Given the description of an element on the screen output the (x, y) to click on. 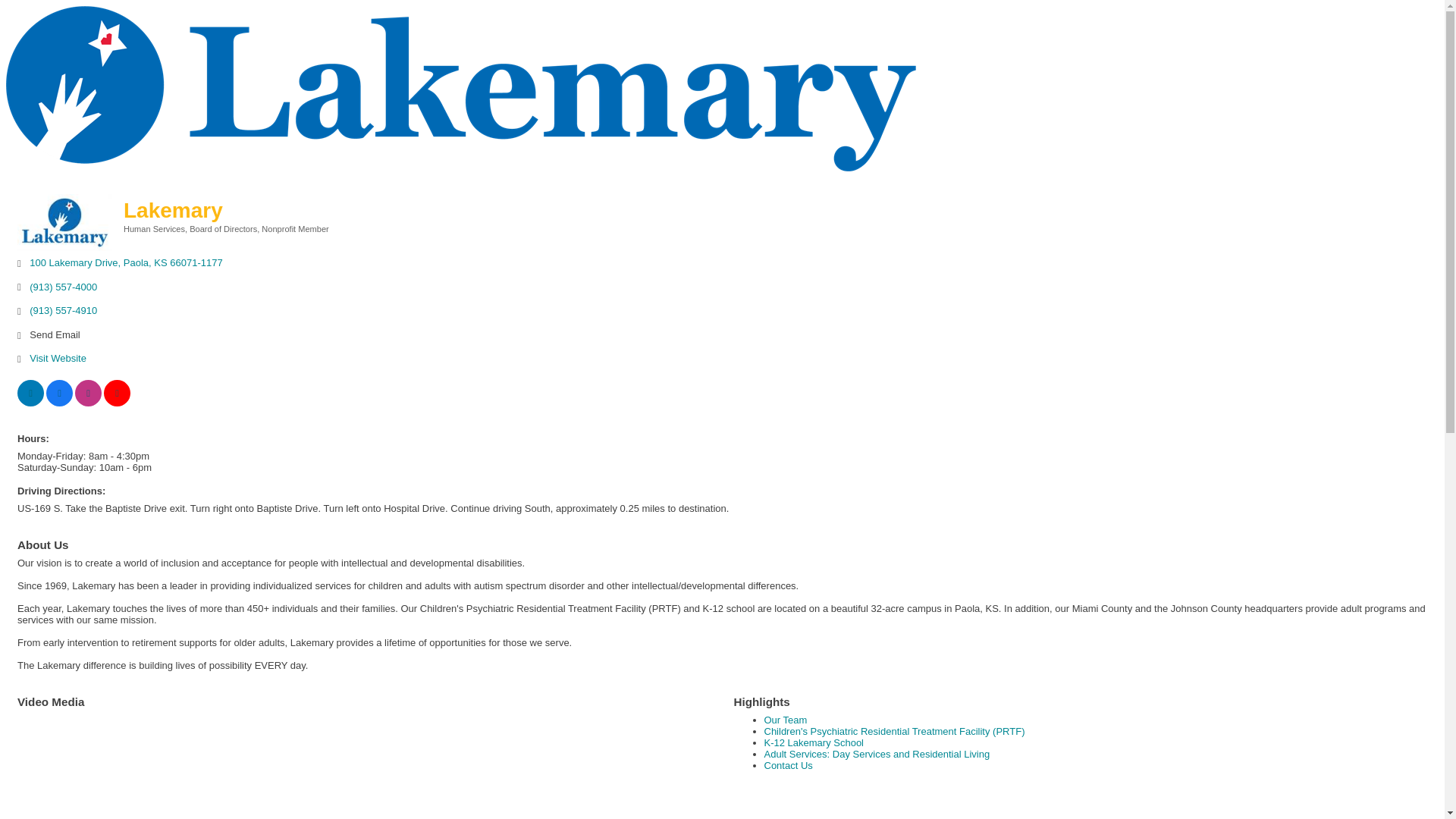
Visit Website (57, 358)
Send Email (54, 335)
Contact Us (788, 765)
View on Instagram (88, 402)
Lakemary (64, 222)
View on YouTube (117, 402)
Adult Services: Day Services and Residential Living (877, 754)
View on Facebook (59, 402)
View on LinkedIn (30, 402)
Our Team (786, 719)
